Given the description of an element on the screen output the (x, y) to click on. 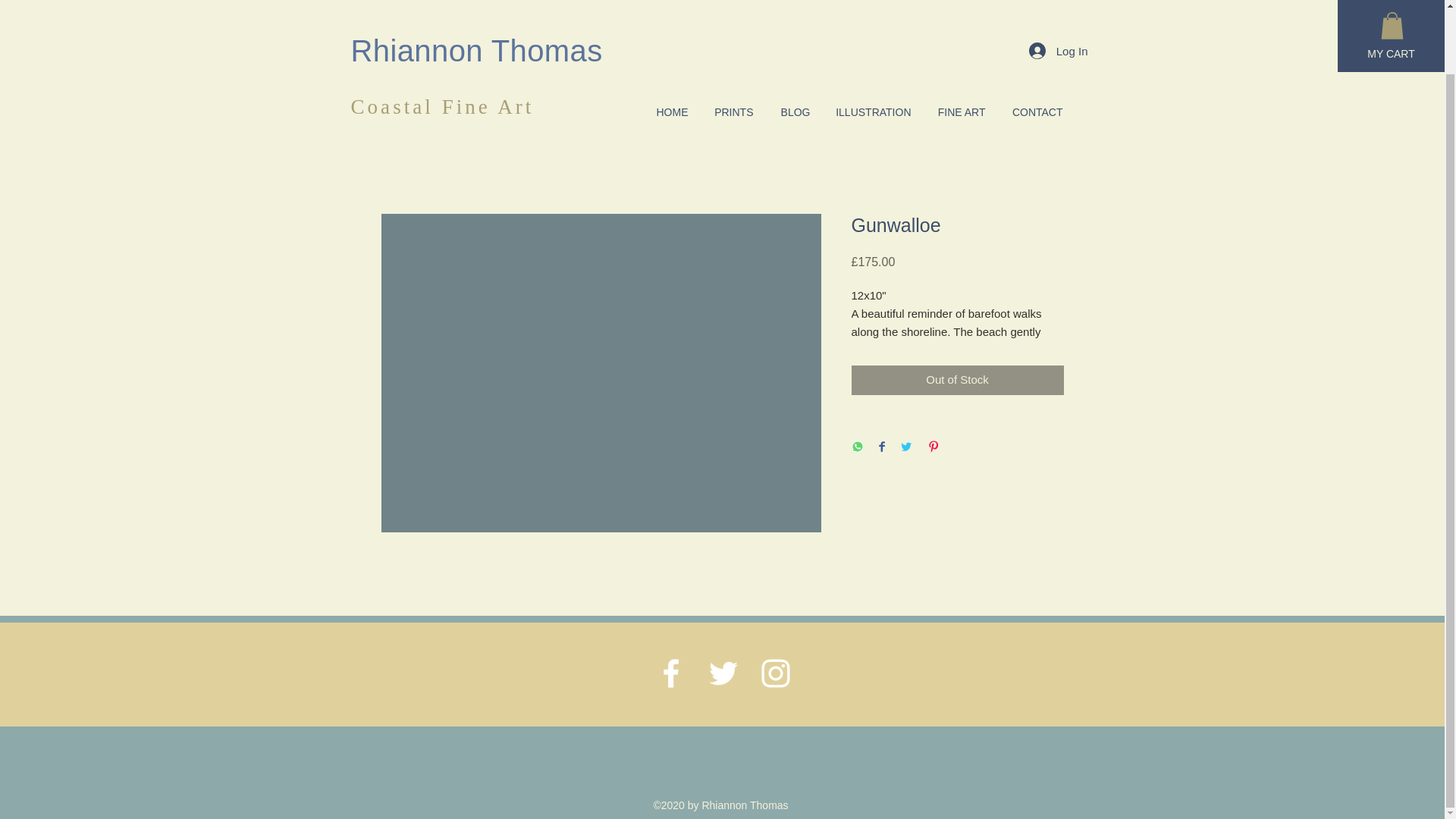
PRINTS (731, 41)
HOME (669, 41)
FINE ART (958, 41)
CONTACT (1034, 41)
Out of Stock (956, 379)
ILLUSTRATION (872, 41)
BLOG (792, 41)
Coastal Fine Art (442, 36)
